Given the description of an element on the screen output the (x, y) to click on. 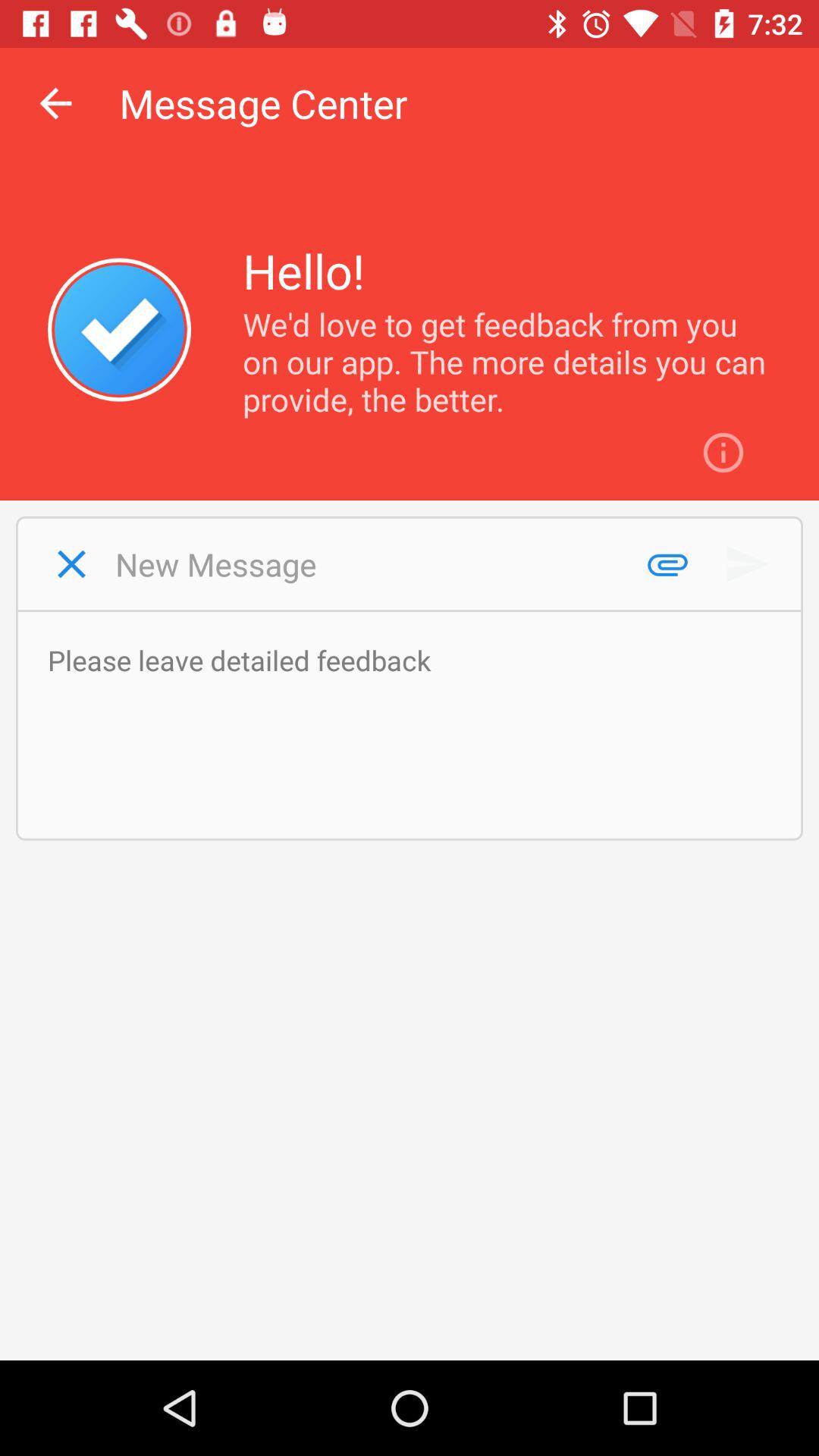
write a feedback (417, 724)
